Given the description of an element on the screen output the (x, y) to click on. 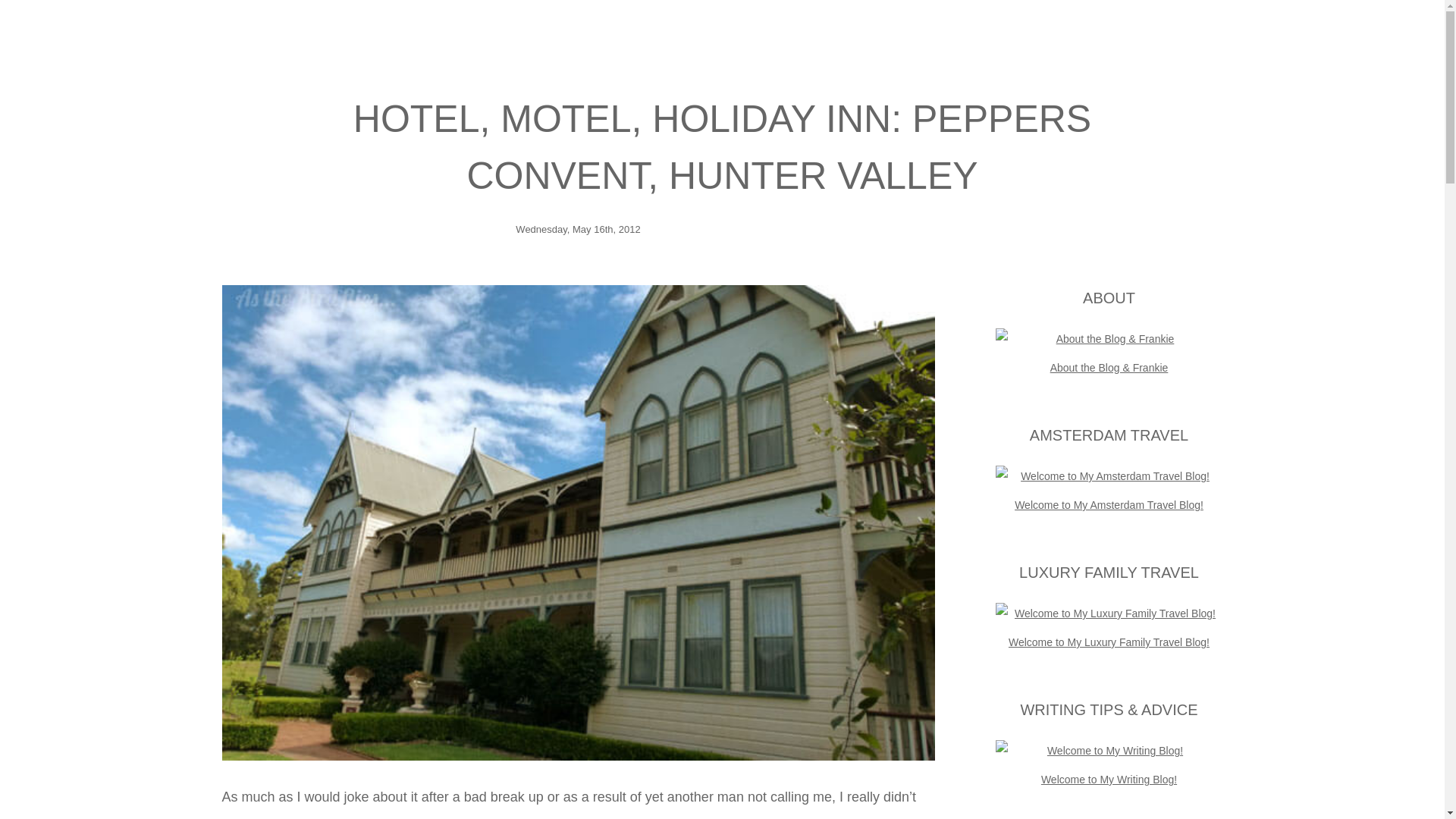
Hotel, Motel, Holiday Inn: Peppers Convent, Hunter Valley (721, 147)
